Given the description of an element on the screen output the (x, y) to click on. 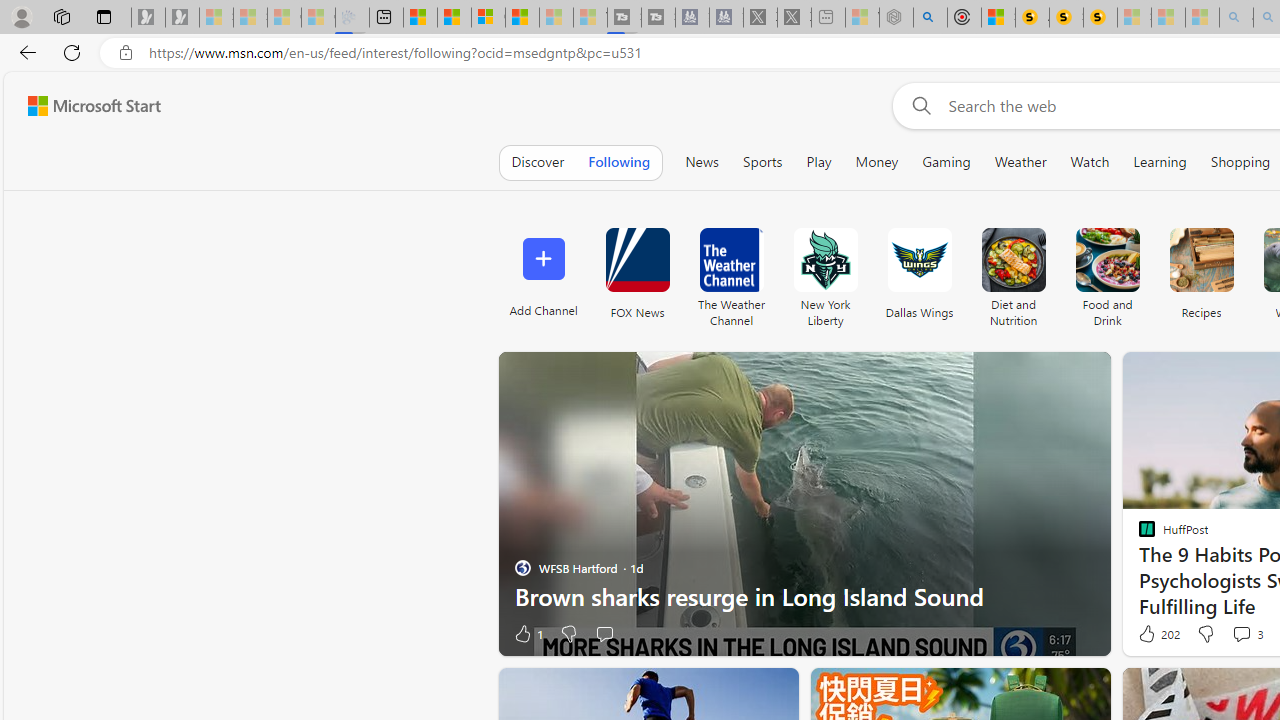
Dallas Wings (919, 260)
View comments 3 Comment (1241, 633)
Diet and Nutrition (1012, 260)
poe - Search (930, 17)
View comments 3 Comment (1247, 633)
